Given the description of an element on the screen output the (x, y) to click on. 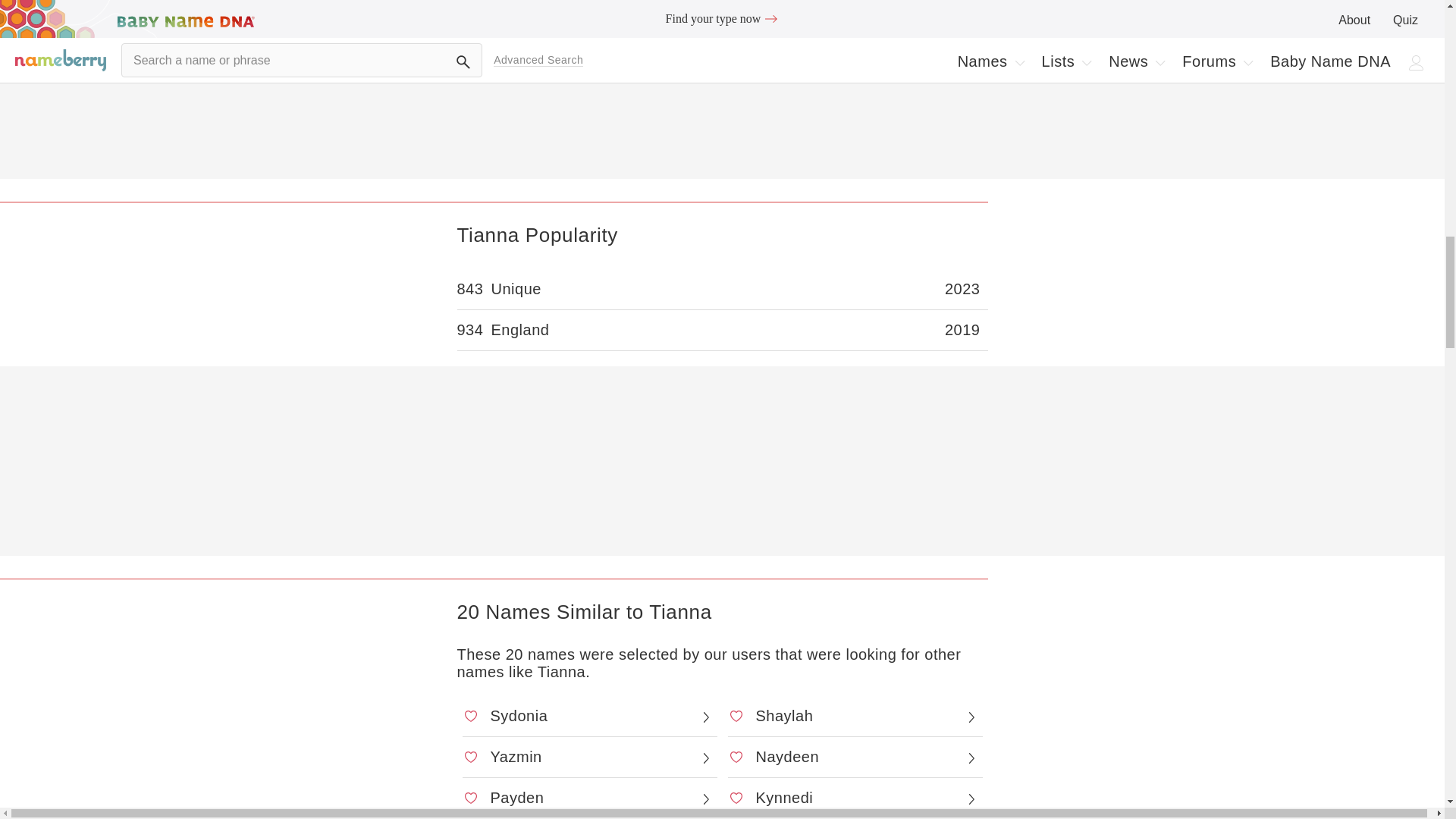
Chevron - Right (970, 717)
Chevron - Right (705, 717)
HEART (470, 715)
HEART (735, 715)
HEART (470, 756)
